Given the description of an element on the screen output the (x, y) to click on. 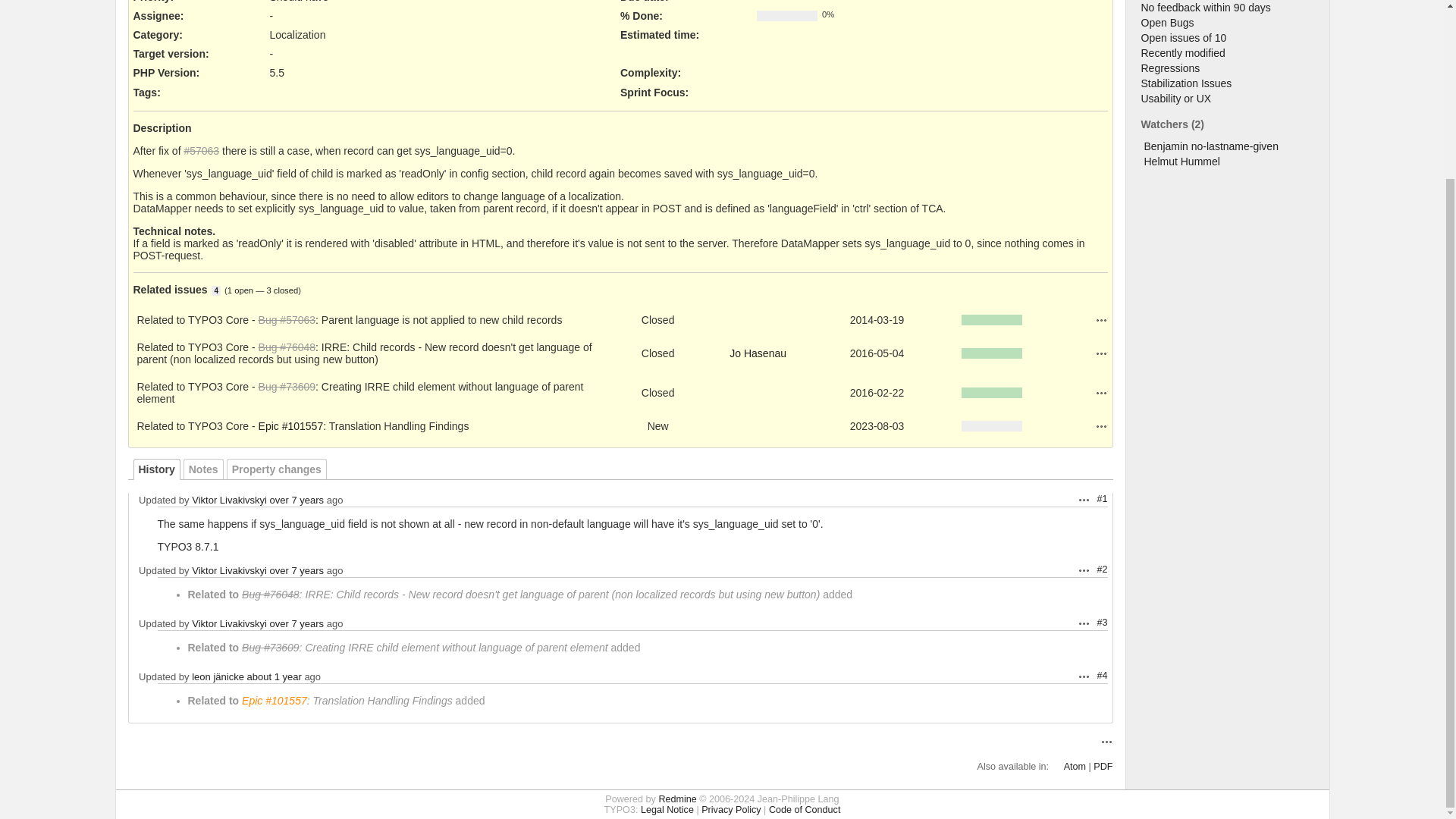
3 closed (282, 289)
Actions (1100, 319)
Stabilization Issues (1185, 82)
Open Bugs (1166, 22)
Actions (1100, 392)
Actions (1084, 570)
Helmut Hummel (1181, 161)
Usability or UX (1175, 98)
Actions (1100, 353)
Actions (1100, 426)
